Given the description of an element on the screen output the (x, y) to click on. 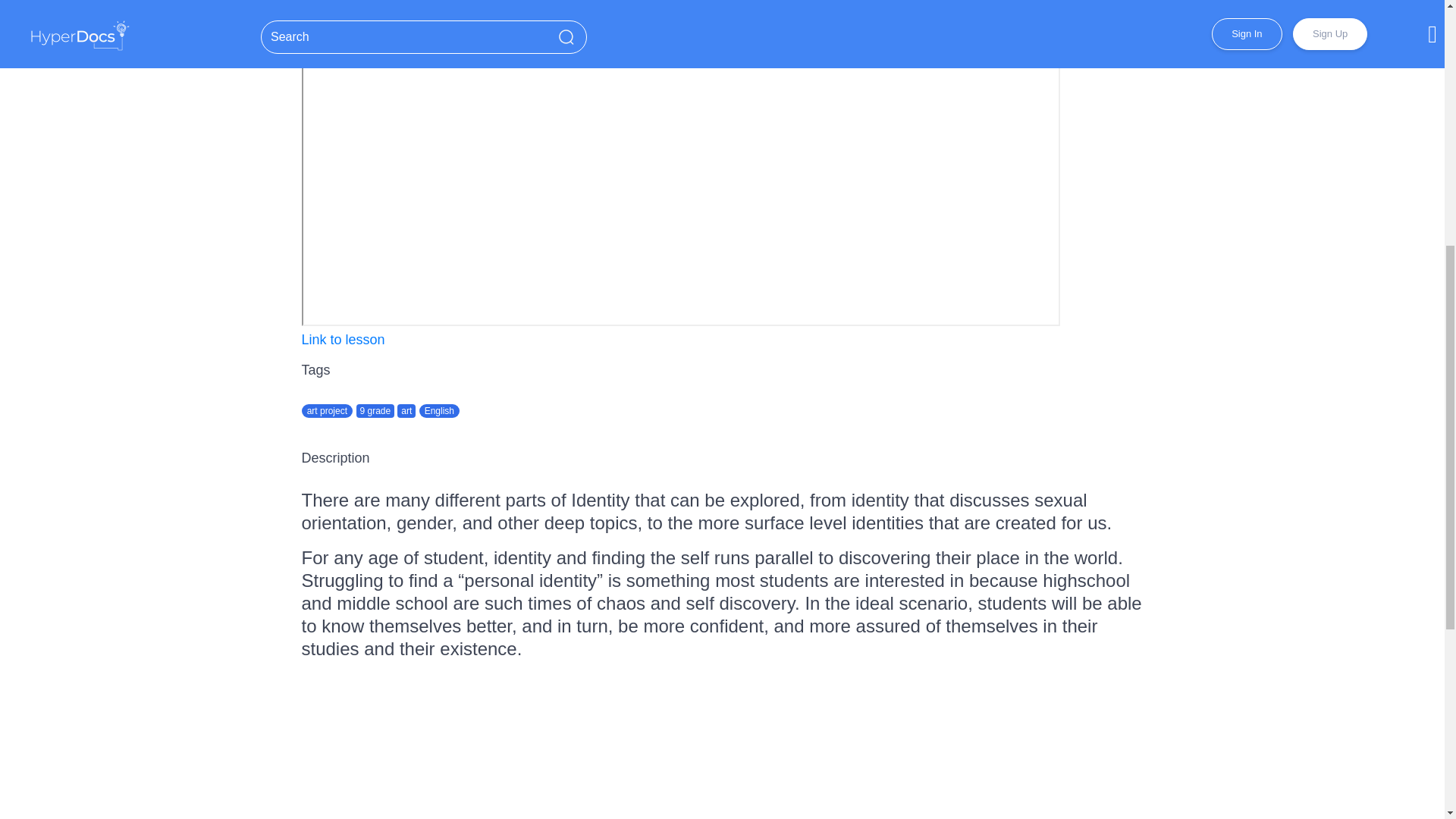
art project (327, 410)
Link to lesson (343, 339)
